Given the description of an element on the screen output the (x, y) to click on. 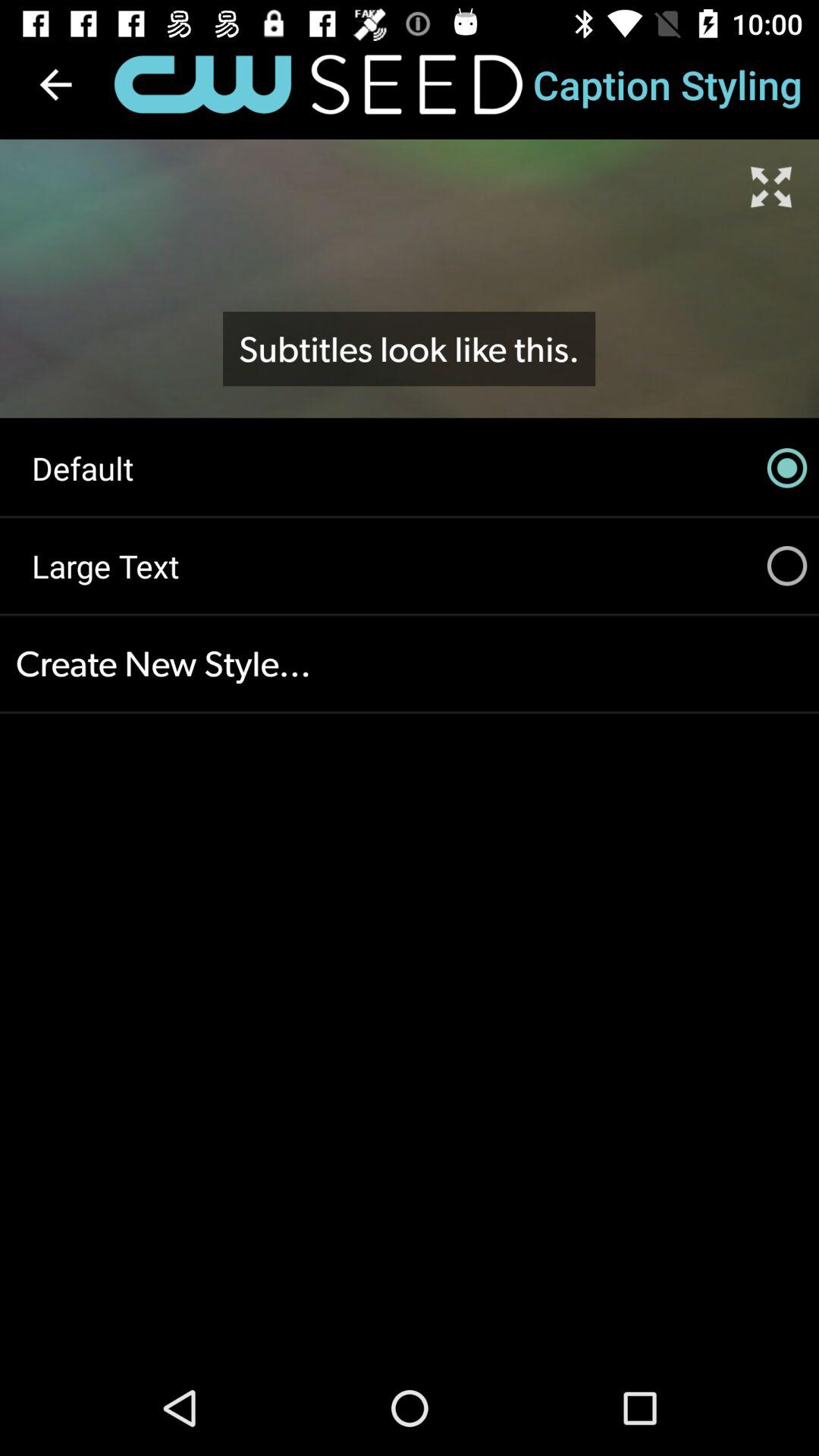
scroll until the default item (409, 467)
